Given the description of an element on the screen output the (x, y) to click on. 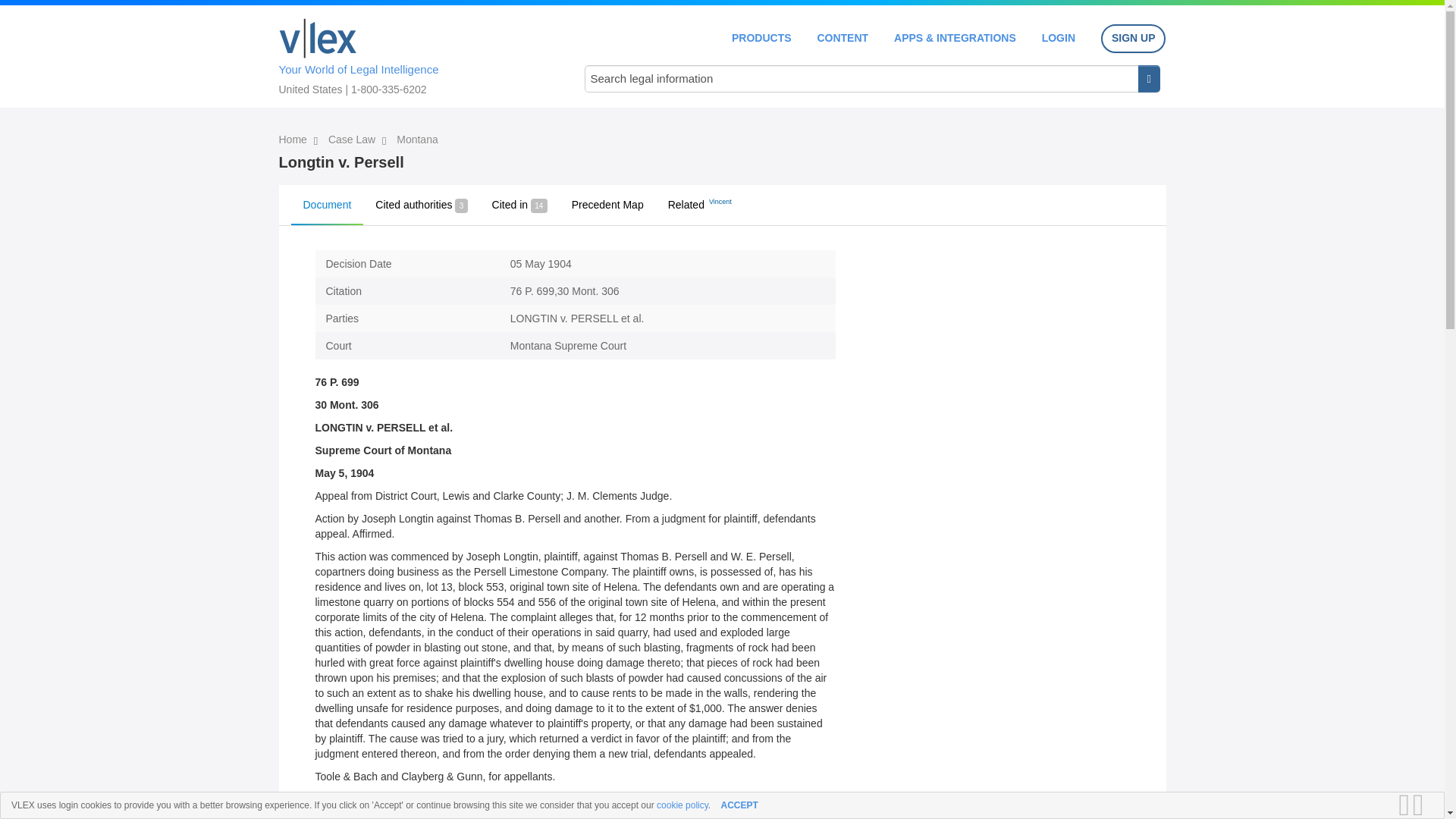
ACCEPT (739, 805)
cookie policy (681, 805)
Your World of Legal Intelligence (416, 53)
LOGIN (1058, 37)
CONTENT (841, 37)
SIGN UP (1133, 38)
PRODUCTS (762, 37)
Home (317, 38)
Montana (417, 139)
Home (294, 139)
